Given the description of an element on the screen output the (x, y) to click on. 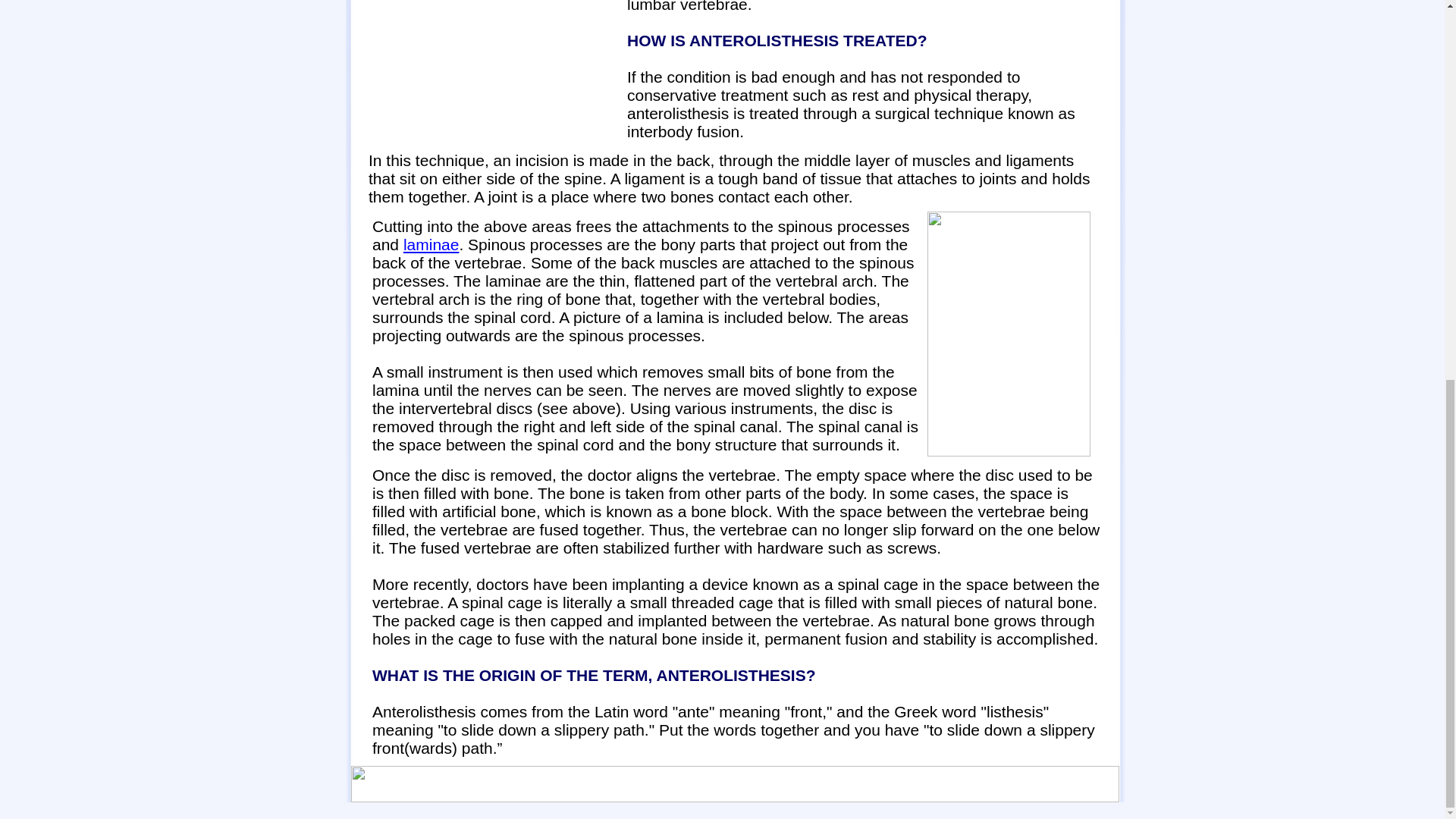
Advertisement (488, 67)
laminae (431, 244)
